Given the description of an element on the screen output the (x, y) to click on. 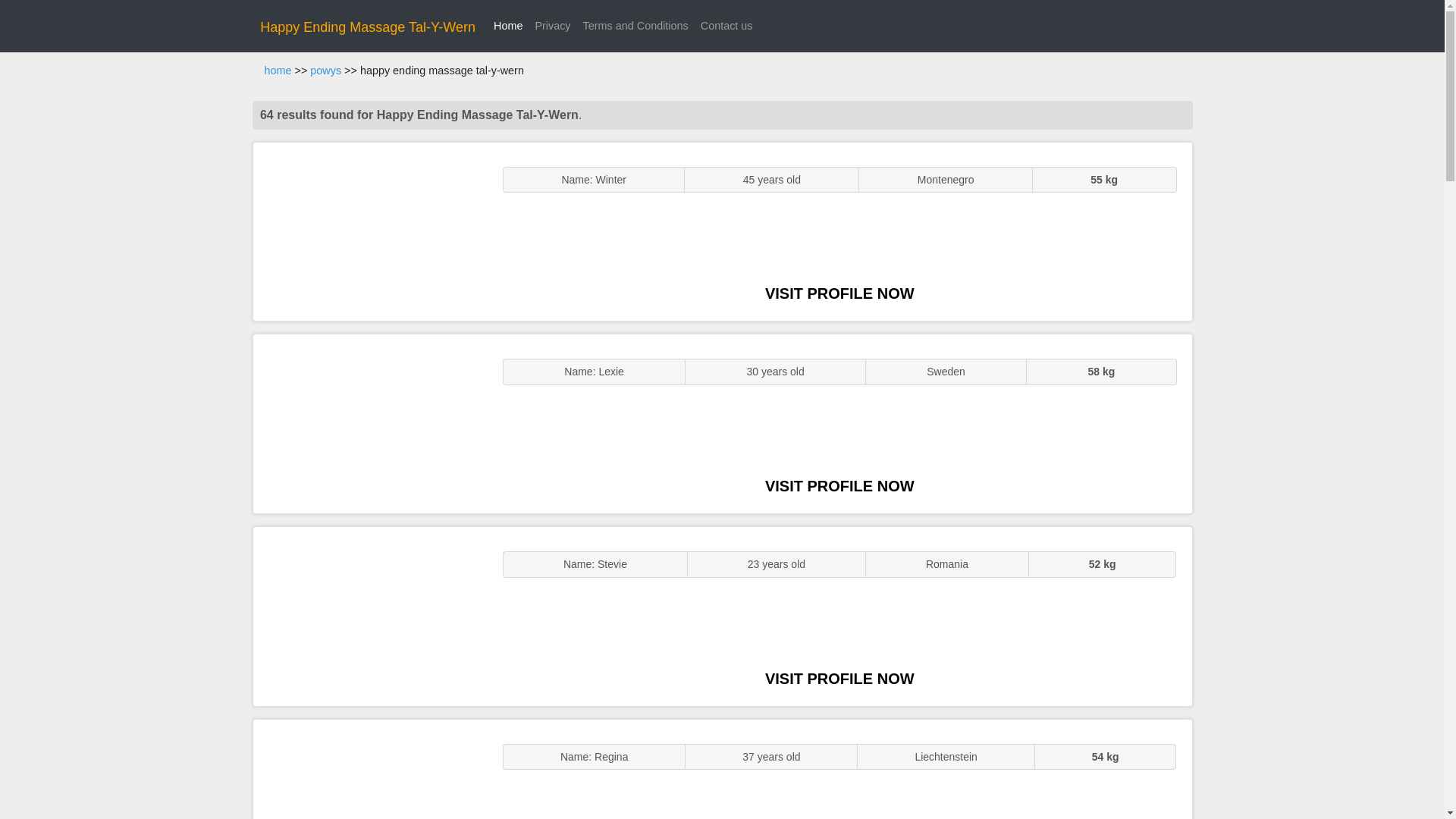
Terms and Conditions (635, 25)
GFE (370, 423)
VISIT PROFILE NOW (839, 485)
Happy Ending Massage Tal-Y-Wern (368, 27)
powys (325, 70)
 ENGLISH STUNNER (370, 231)
Sluts (370, 769)
Contact us (726, 25)
VISIT PROFILE NOW (839, 293)
Sexy (370, 616)
home (277, 70)
Privacy (552, 25)
VISIT PROFILE NOW (839, 678)
